Given the description of an element on the screen output the (x, y) to click on. 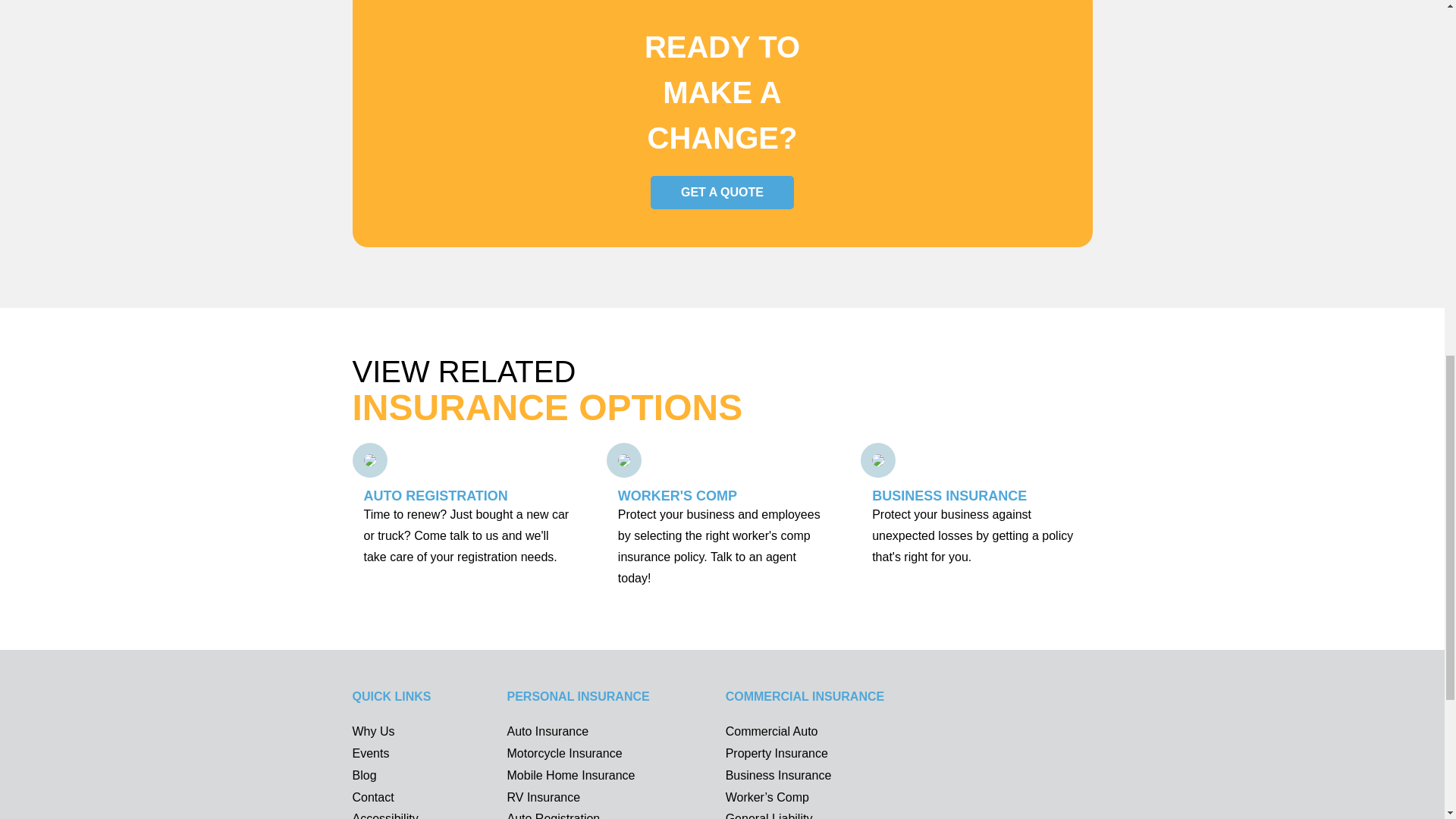
Why Us (373, 730)
GET A QUOTE (721, 192)
